Given the description of an element on the screen output the (x, y) to click on. 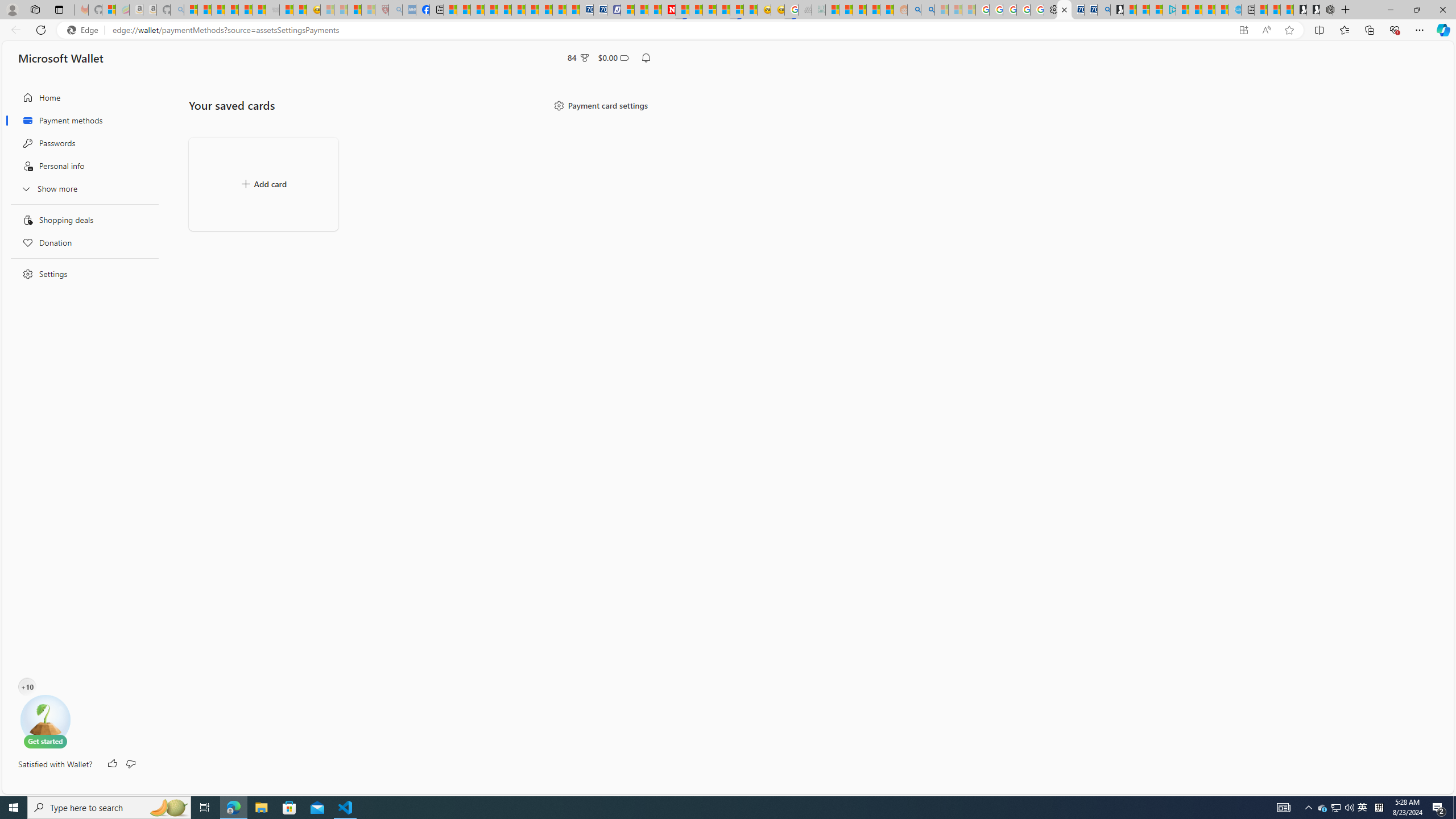
Payment card settings (600, 105)
Student Loan Update: Forgiveness Program Ends This Month (873, 9)
Microsoft Rewards - 84 points (578, 57)
Like (112, 764)
